Given the description of an element on the screen output the (x, y) to click on. 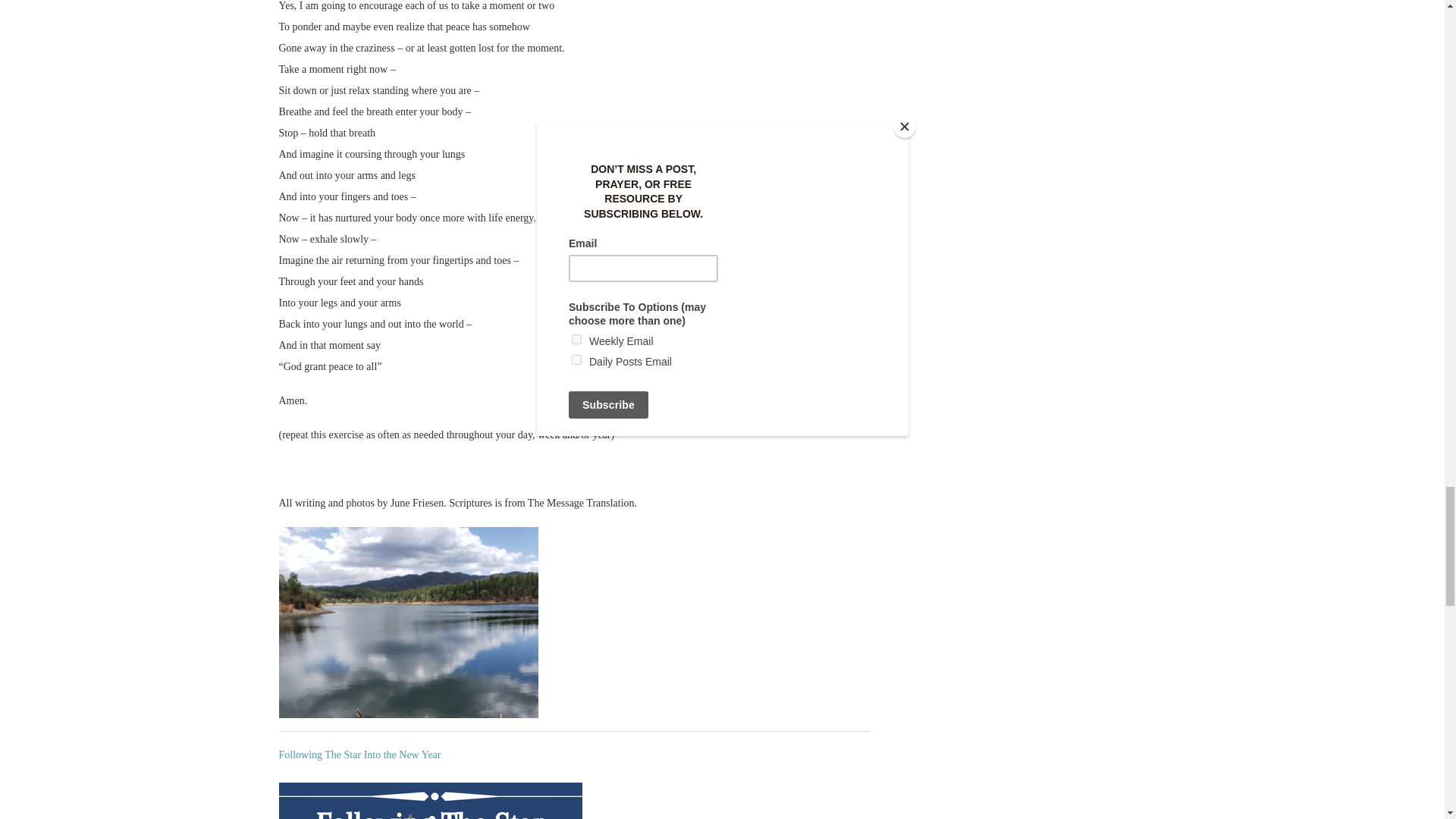
Following The Star Into The New Year (430, 800)
